Given the description of an element on the screen output the (x, y) to click on. 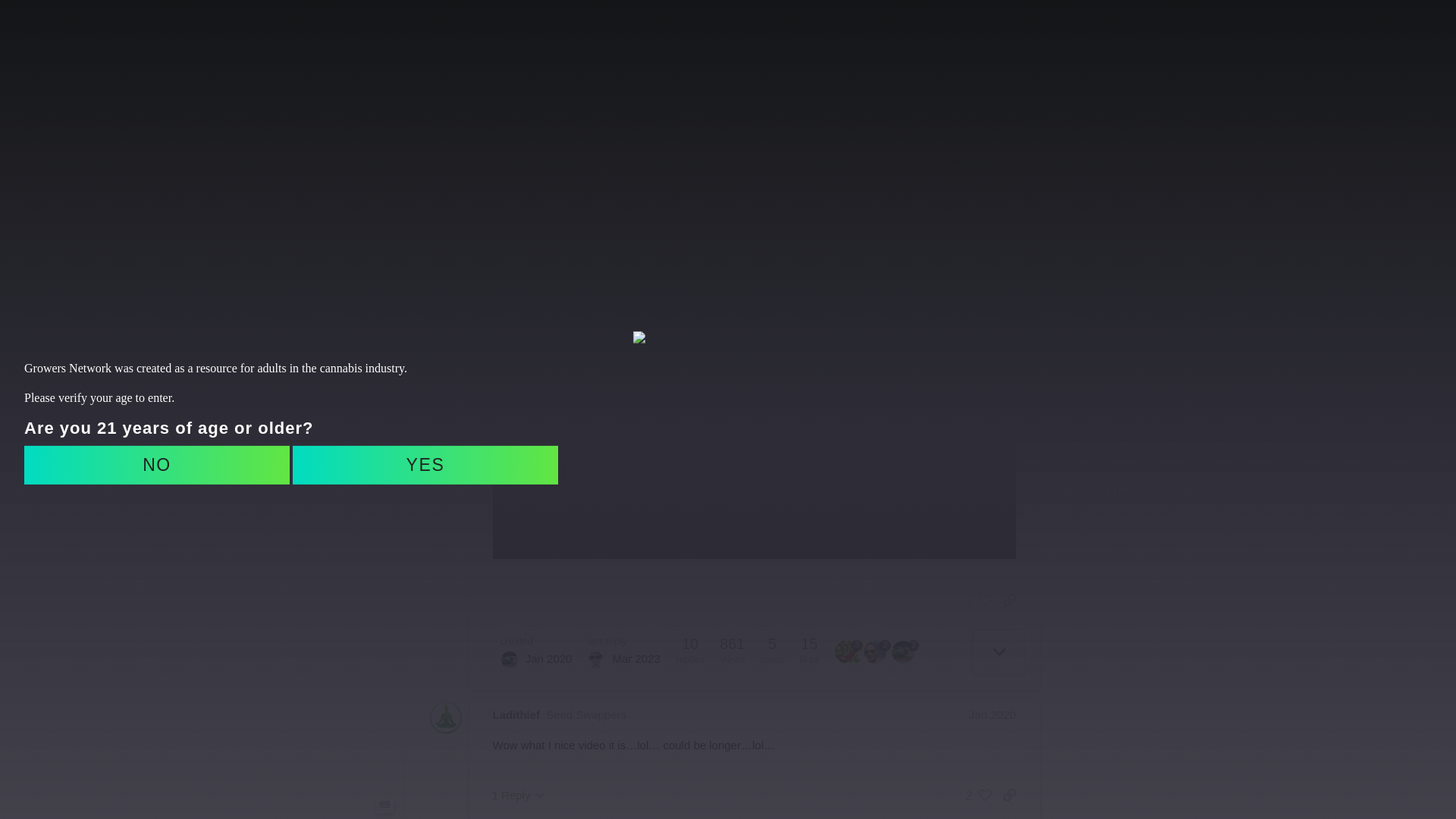
Educational (306, 377)
Led light build info (519, 151)
Log In (1170, 36)
More (306, 119)
Question (306, 401)
All tags (306, 473)
Keyboard Shortcuts (383, 805)
CANNACRIBS (605, 36)
No (156, 464)
All categories (306, 295)
Tags (306, 329)
UNIVERSITY (814, 36)
Business (306, 354)
